Given the description of an element on the screen output the (x, y) to click on. 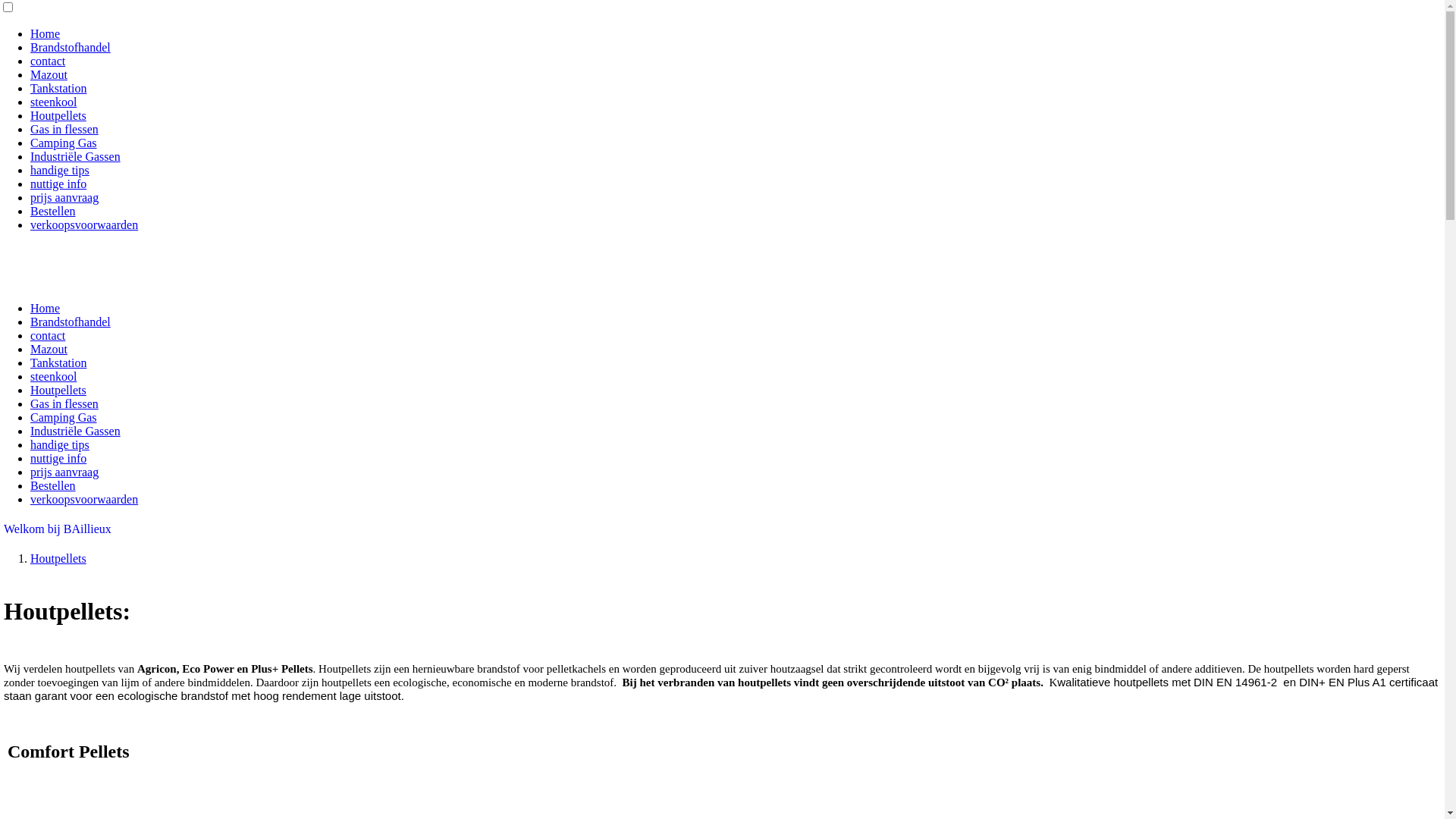
handige tips Element type: text (59, 444)
steenkool Element type: text (53, 101)
Houtpellets Element type: text (58, 389)
Brandstofhandel Element type: text (70, 46)
prijs aanvraag Element type: text (64, 197)
Bestellen Element type: text (52, 210)
nuttige info Element type: text (58, 183)
Mazout Element type: text (48, 74)
Tankstation Element type: text (58, 87)
Bestellen Element type: text (52, 485)
Mazout Element type: text (48, 348)
Gas in flessen Element type: text (64, 128)
Welkom bij BAillieux Element type: text (57, 528)
nuttige info Element type: text (58, 457)
prijs aanvraag Element type: text (64, 471)
Brandstofhandel Element type: text (70, 321)
Gas in flessen Element type: text (64, 403)
verkoopsvoorwaarden Element type: text (84, 498)
contact Element type: text (47, 60)
Home Element type: text (44, 33)
Home Element type: text (44, 307)
Tankstation Element type: text (58, 362)
handige tips Element type: text (59, 169)
Camping Gas Element type: text (63, 142)
verkoopsvoorwaarden Element type: text (84, 224)
steenkool Element type: text (53, 376)
Houtpellets Element type: text (58, 115)
Camping Gas Element type: text (63, 417)
contact Element type: text (47, 335)
Houtpellets Element type: text (58, 558)
